Given the description of an element on the screen output the (x, y) to click on. 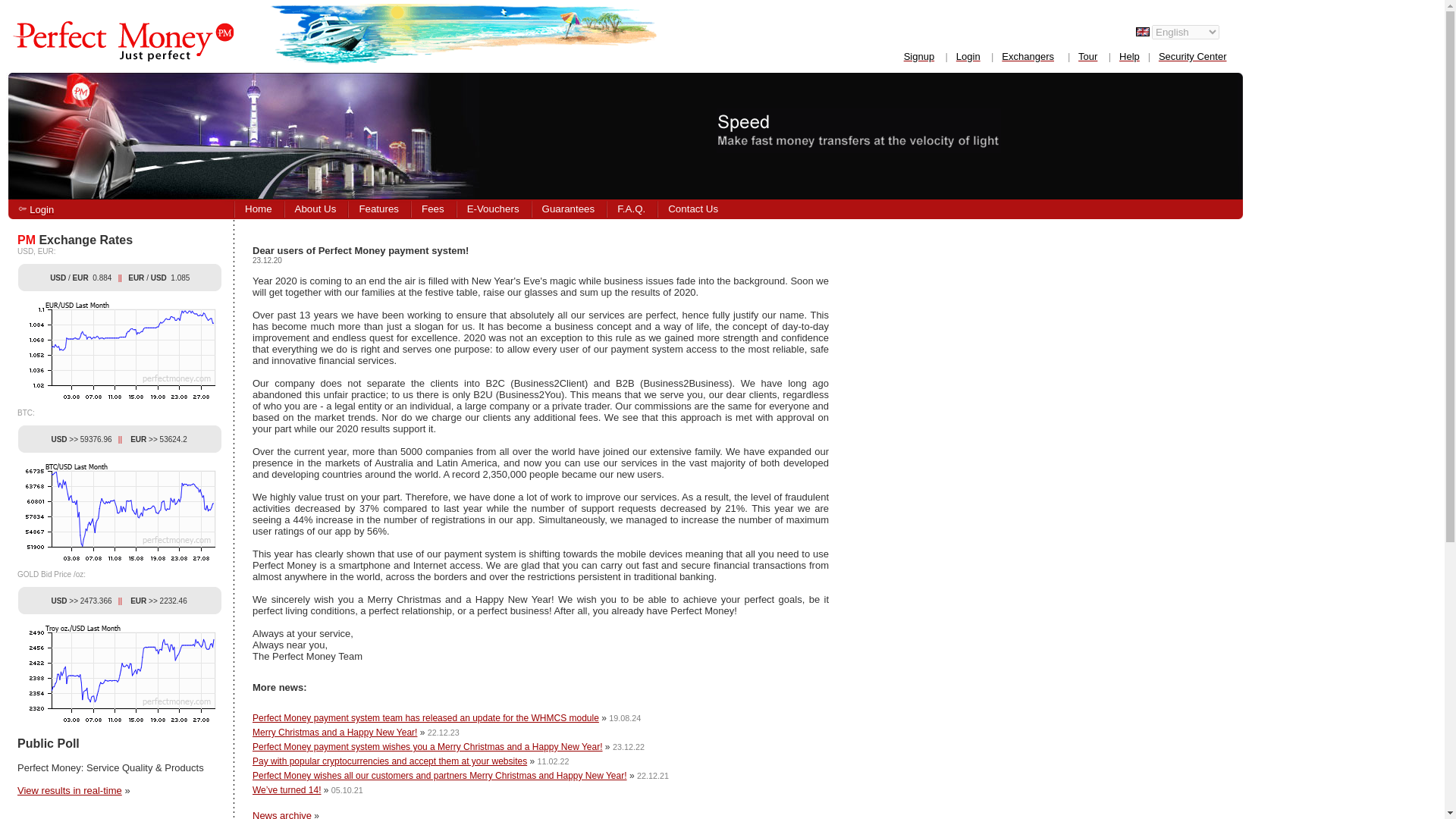
Home (257, 208)
E-Vouchers (493, 208)
About Us (315, 208)
Security Center (1192, 56)
Fees (432, 208)
Contact Us (692, 208)
Exchangers (1027, 56)
Login (967, 56)
Merry Christmas and a Happy New Year! (333, 732)
Tour (1087, 56)
